Given the description of an element on the screen output the (x, y) to click on. 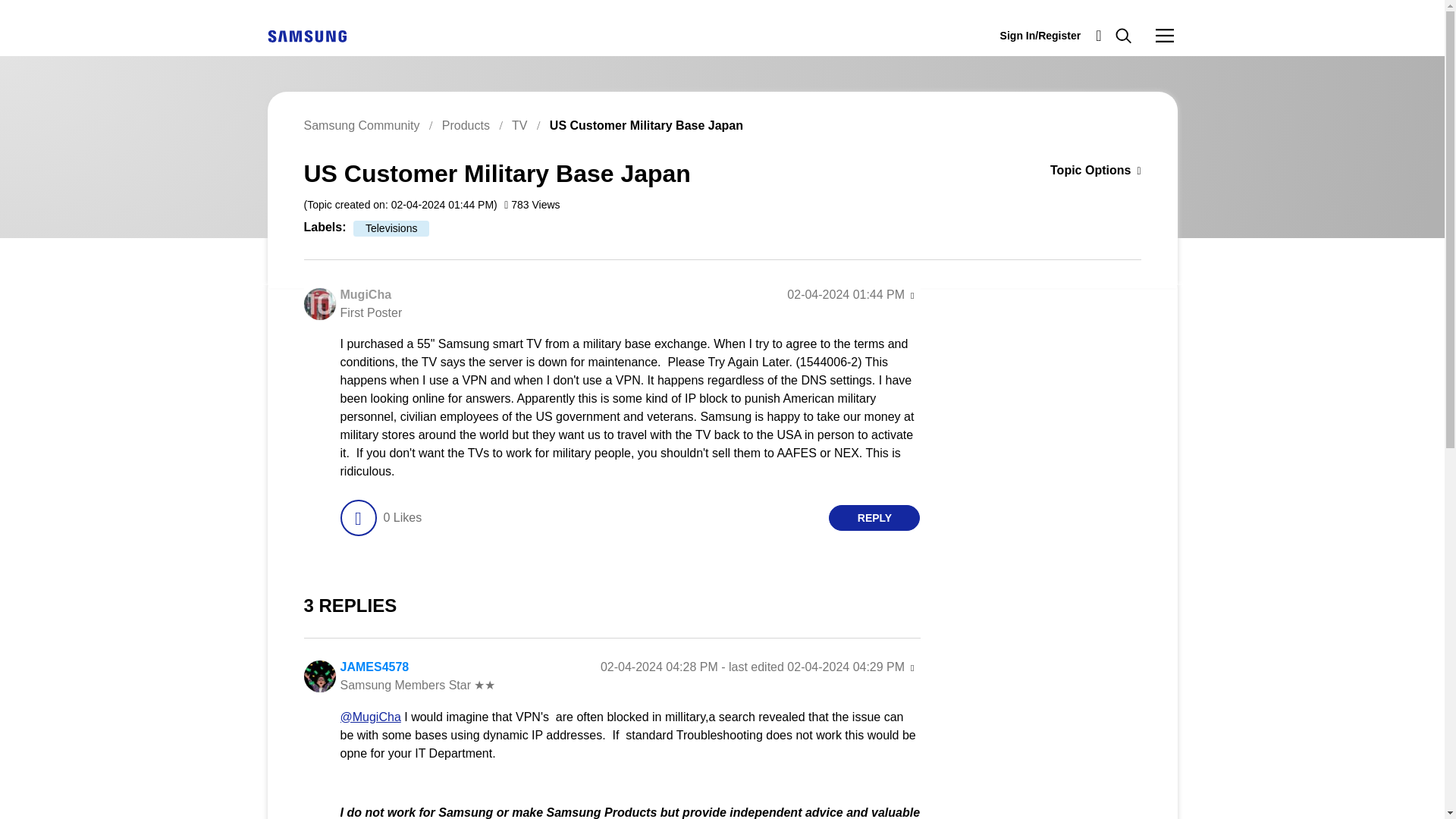
Products (465, 124)
Samsung Community (360, 124)
Televisions (391, 228)
JAMES4578 (374, 666)
Show option menu (1072, 171)
REPLY (874, 517)
English (306, 34)
Show option menu (912, 295)
MugiCha (365, 294)
Topic Options (1072, 171)
The total number of likes this post has received. (401, 517)
MugiCha (318, 304)
TV (519, 124)
Click here to give likes to this post. (357, 517)
Community (1164, 35)
